Given the description of an element on the screen output the (x, y) to click on. 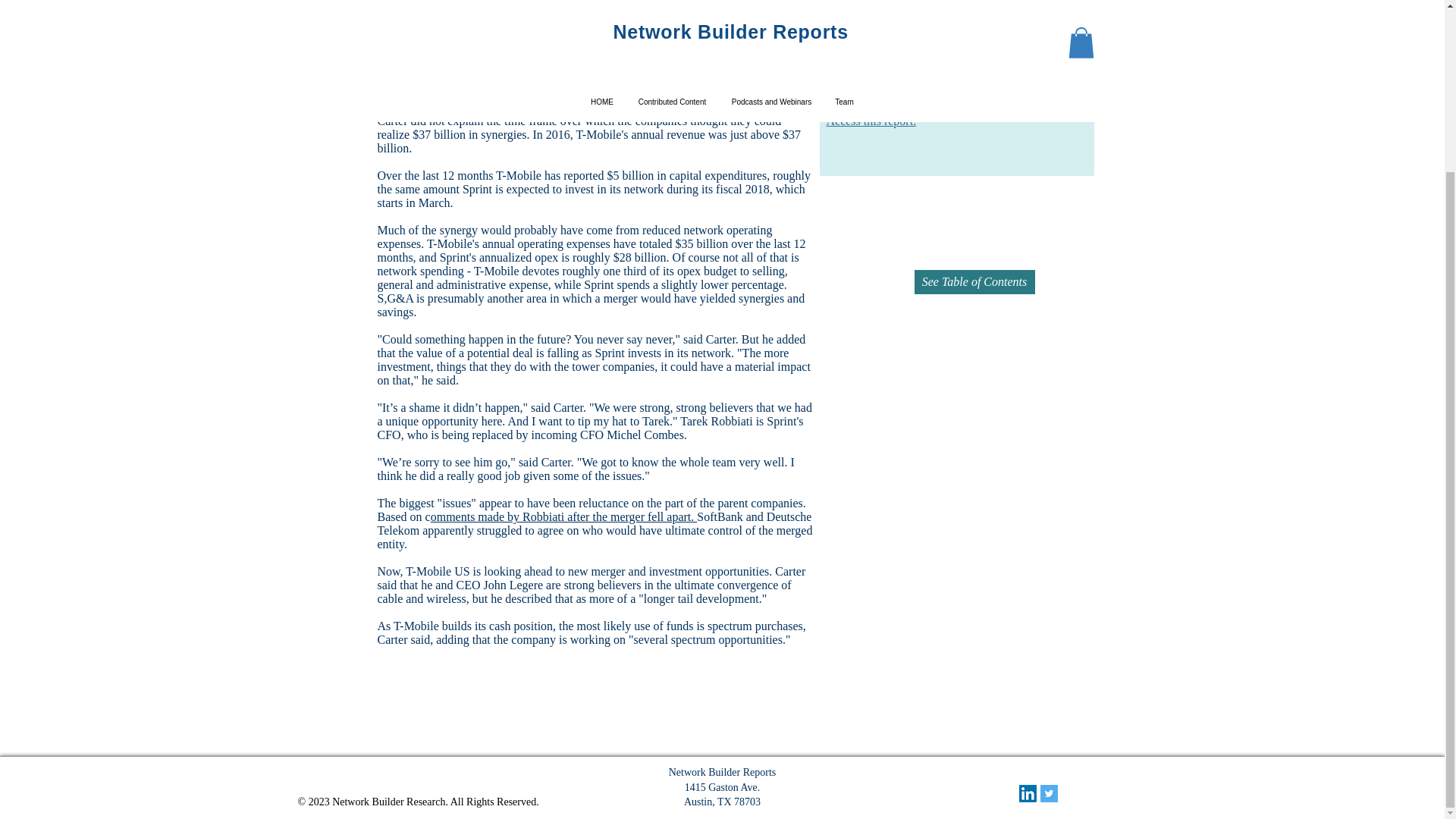
omments made by Robbiati after the merger fell apart.  (563, 516)
See Table of Contents (974, 282)
Access this report. (872, 120)
